Given the description of an element on the screen output the (x, y) to click on. 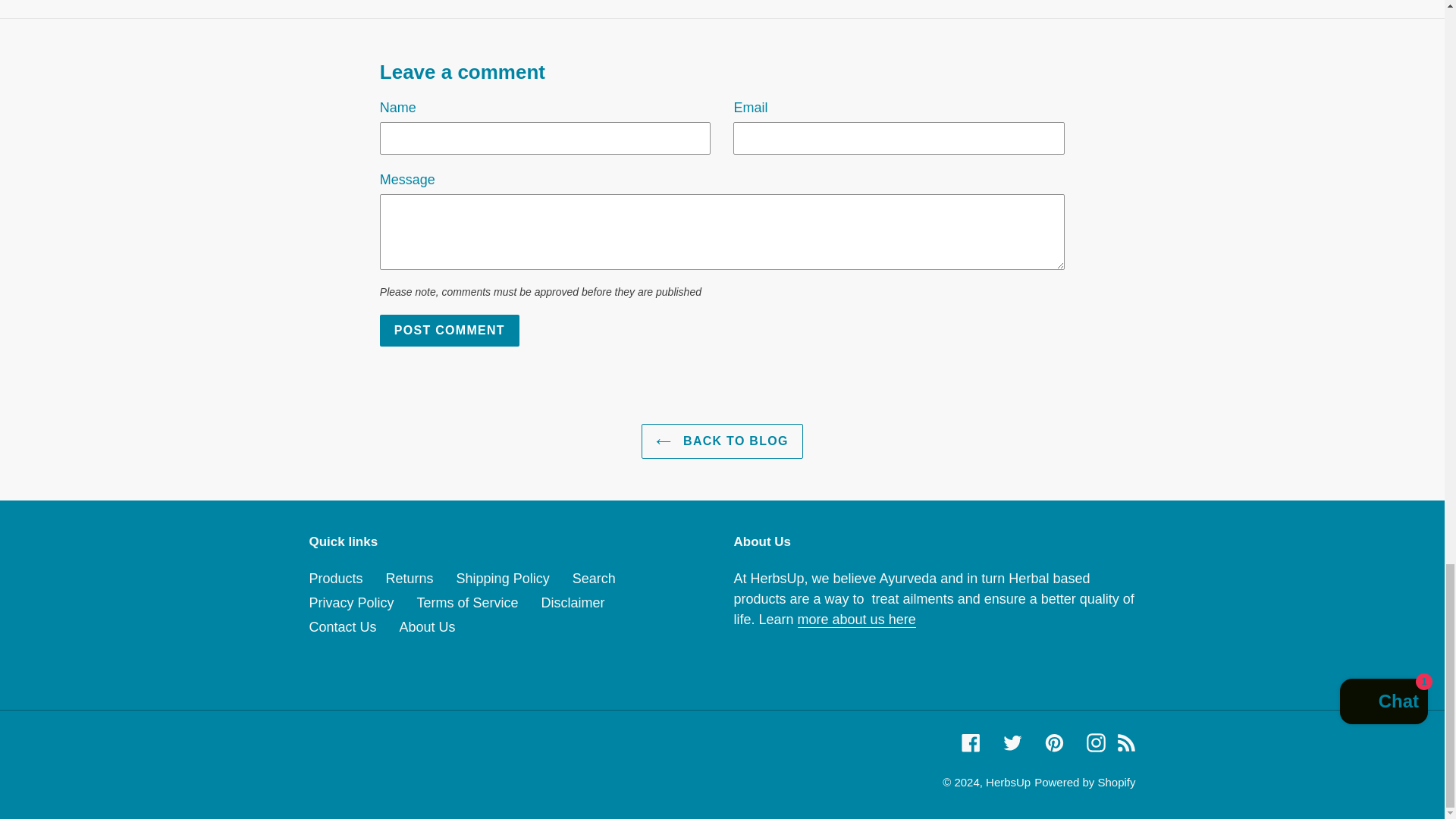
About Us (856, 619)
Post comment (449, 329)
